Given the description of an element on the screen output the (x, y) to click on. 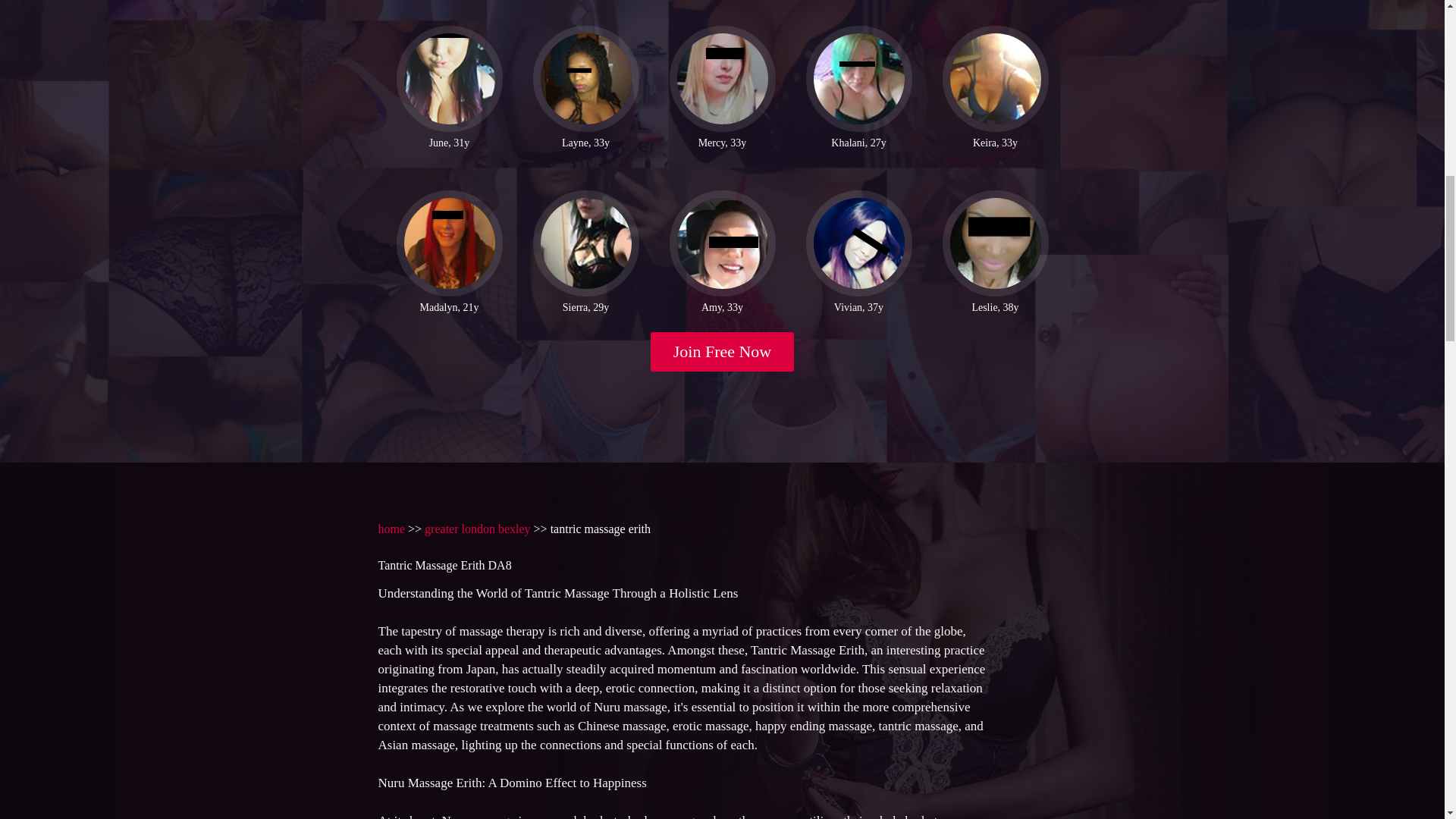
home (390, 528)
Join (722, 351)
greater london bexley (478, 528)
Join Free Now (722, 351)
